Given the description of an element on the screen output the (x, y) to click on. 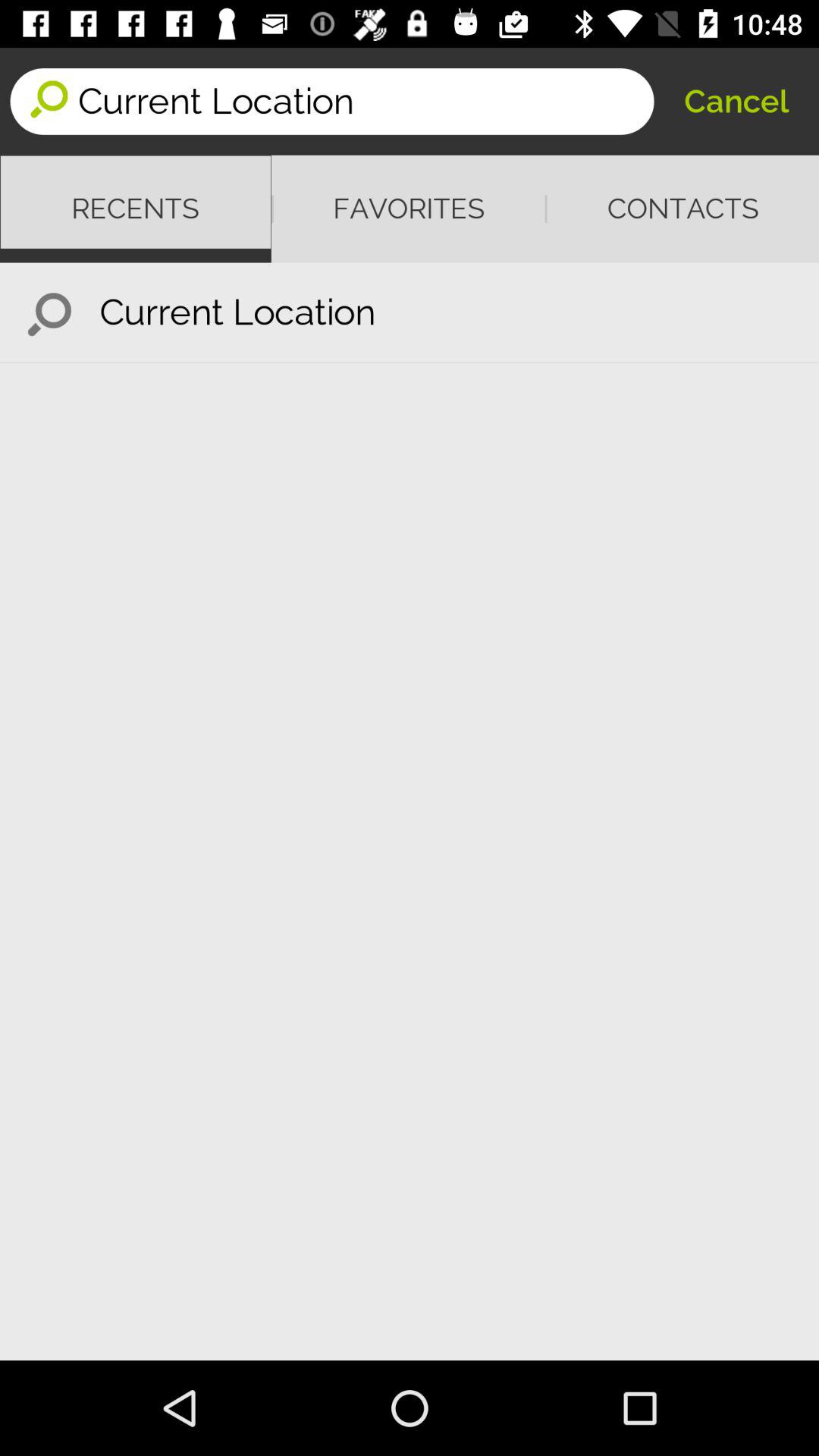
turn on cancel (736, 101)
